Given the description of an element on the screen output the (x, y) to click on. 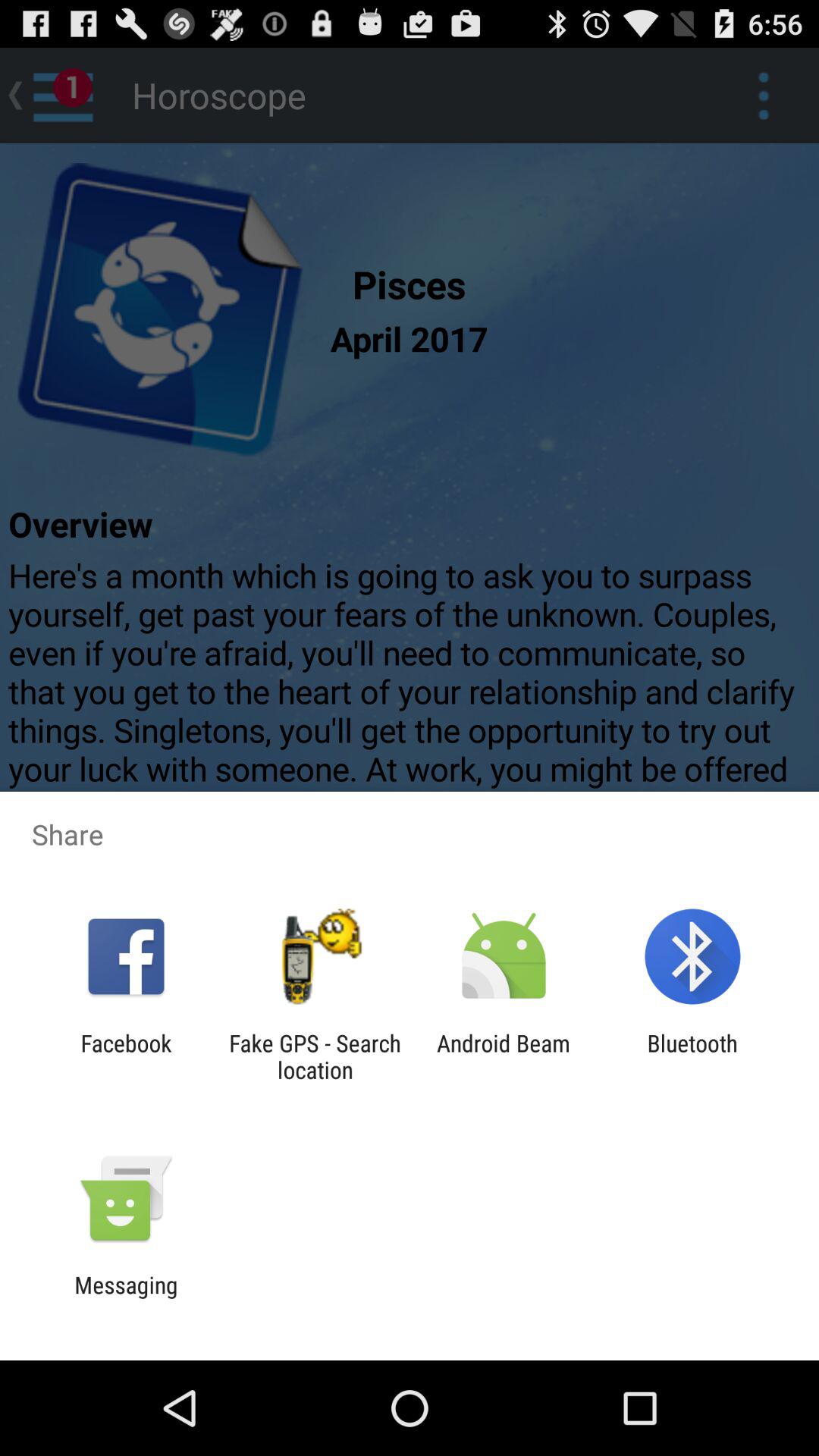
launch icon to the right of facebook app (314, 1056)
